Given the description of an element on the screen output the (x, y) to click on. 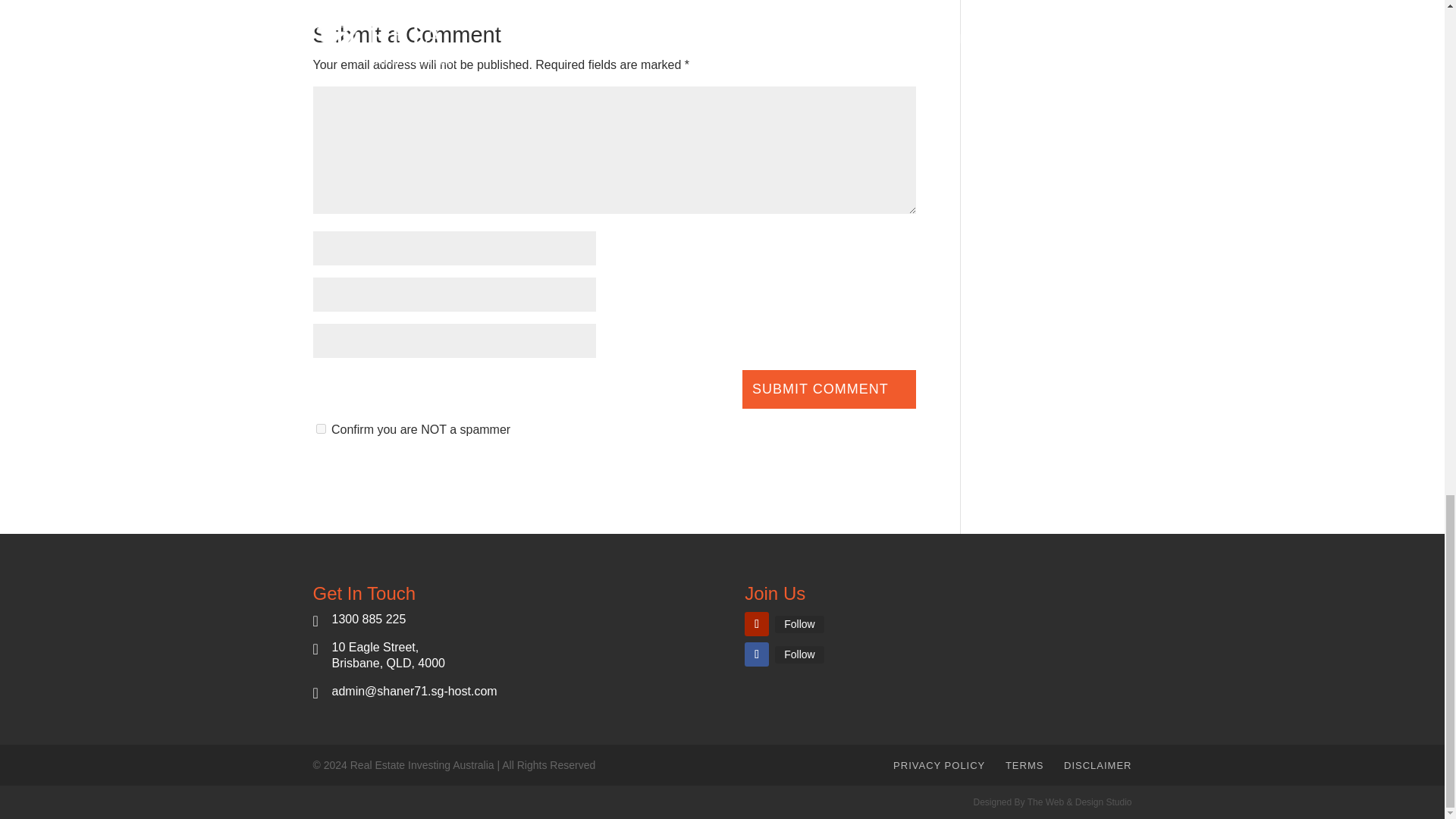
TERMS (1024, 765)
Follow (799, 623)
Facebook (799, 654)
Follow on Facebook (756, 654)
Submit Comment (828, 389)
Submit Comment (828, 389)
Follow on Youtube (756, 623)
DISCLAIMER (1097, 765)
Youtube (799, 623)
Follow (799, 654)
PRIVACY POLICY (939, 765)
on (319, 429)
